Given the description of an element on the screen output the (x, y) to click on. 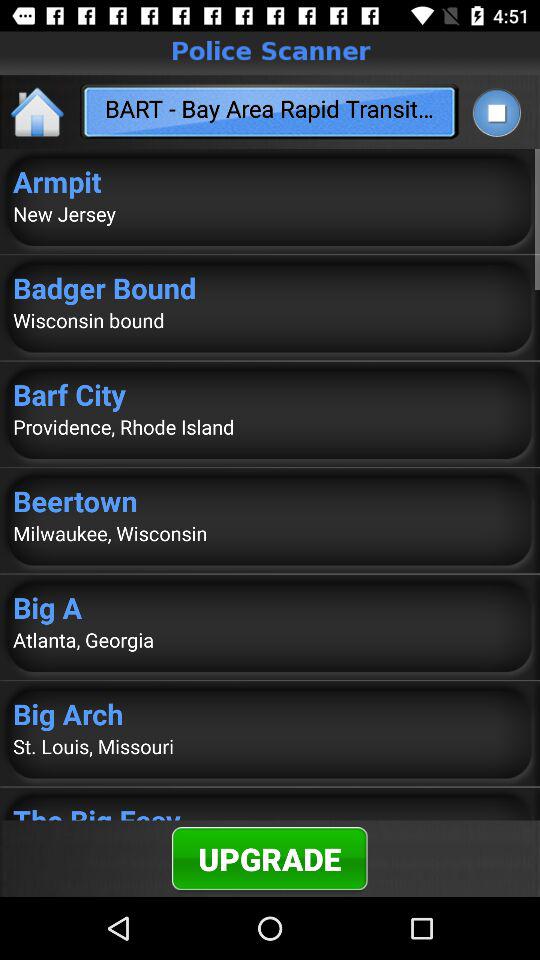
launch the item above upgrade (269, 810)
